Given the description of an element on the screen output the (x, y) to click on. 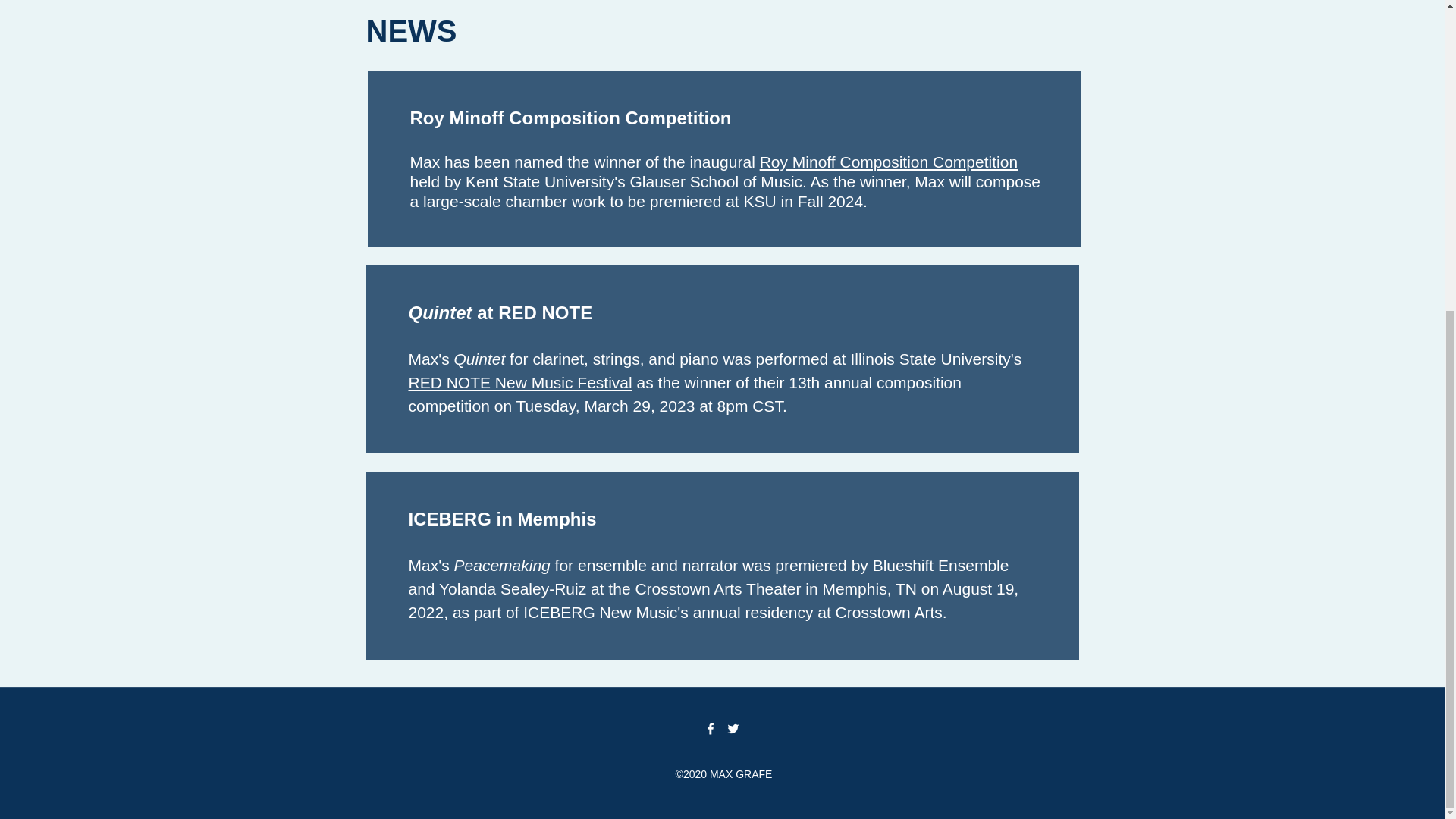
Roy Minoff Composition Competition (888, 161)
RED NOTE New Music Festival (519, 382)
